Given the description of an element on the screen output the (x, y) to click on. 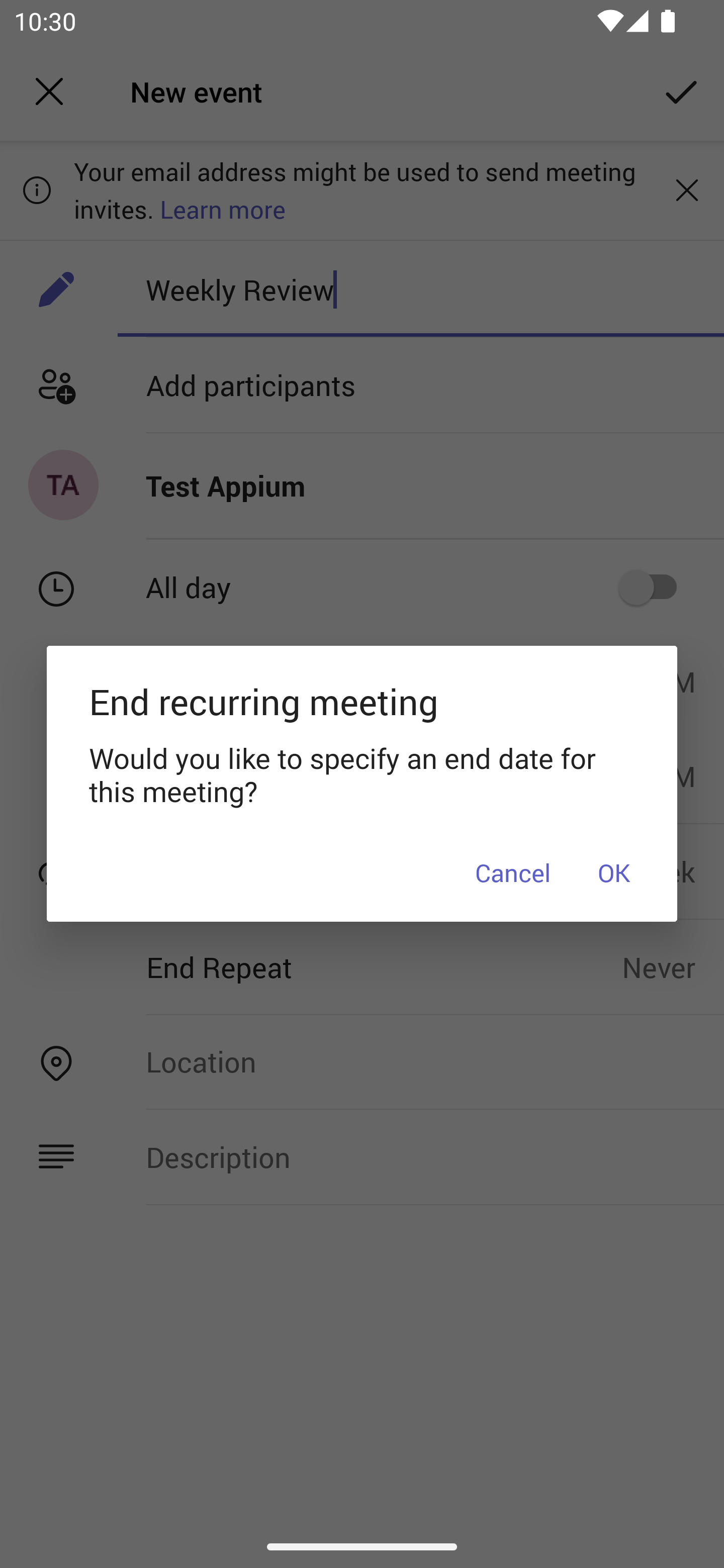
Cancel (512, 871)
OK (613, 871)
